Given the description of an element on the screen output the (x, y) to click on. 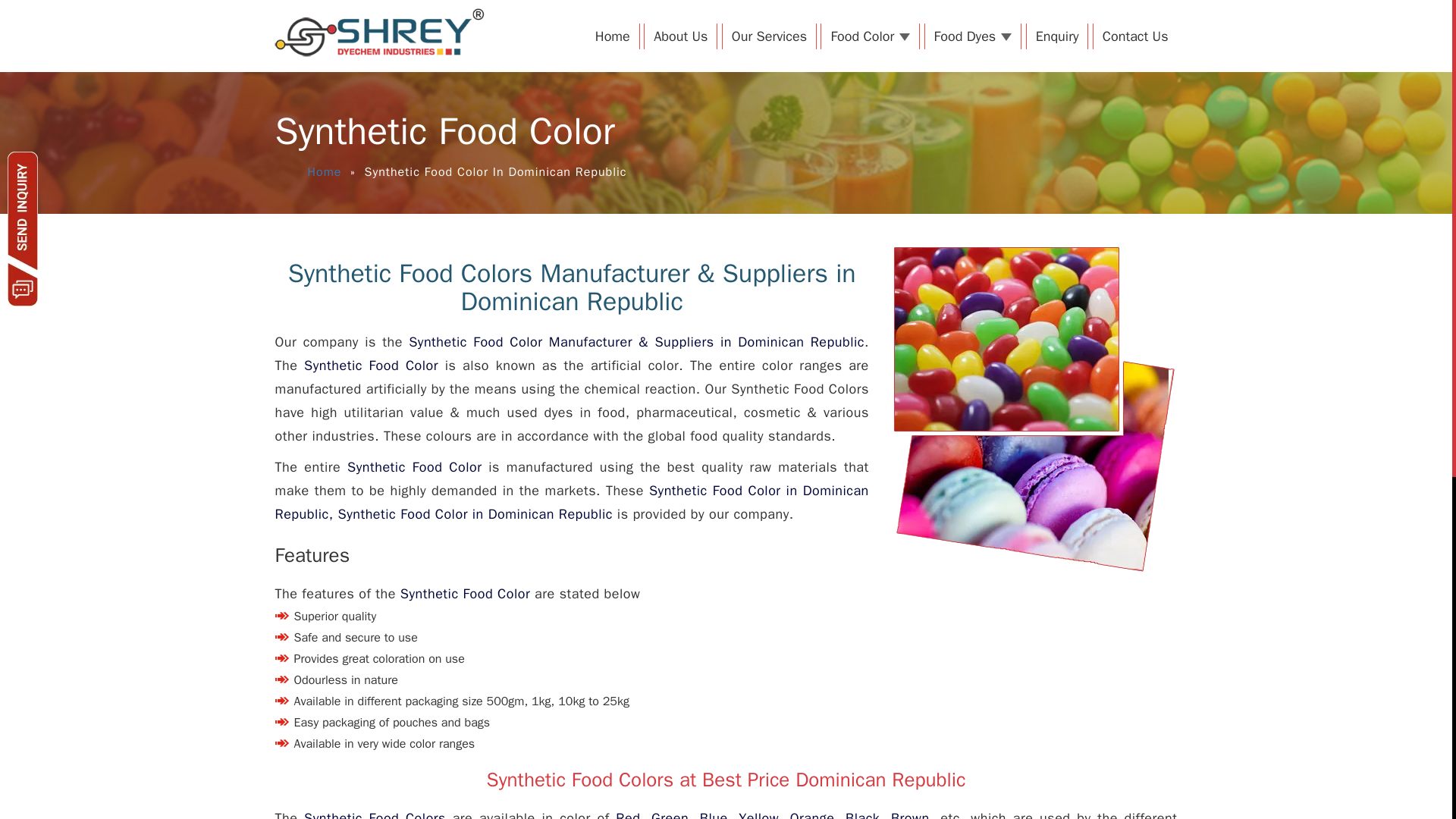
Food Color (869, 36)
About Us (680, 36)
Synthetic Food Color (414, 466)
Home (324, 171)
Food Dyes (973, 36)
Home (612, 36)
Contact Us (1135, 36)
Our Services (768, 36)
Enquiry (1056, 36)
Synthetic Food Color (414, 466)
